Given the description of an element on the screen output the (x, y) to click on. 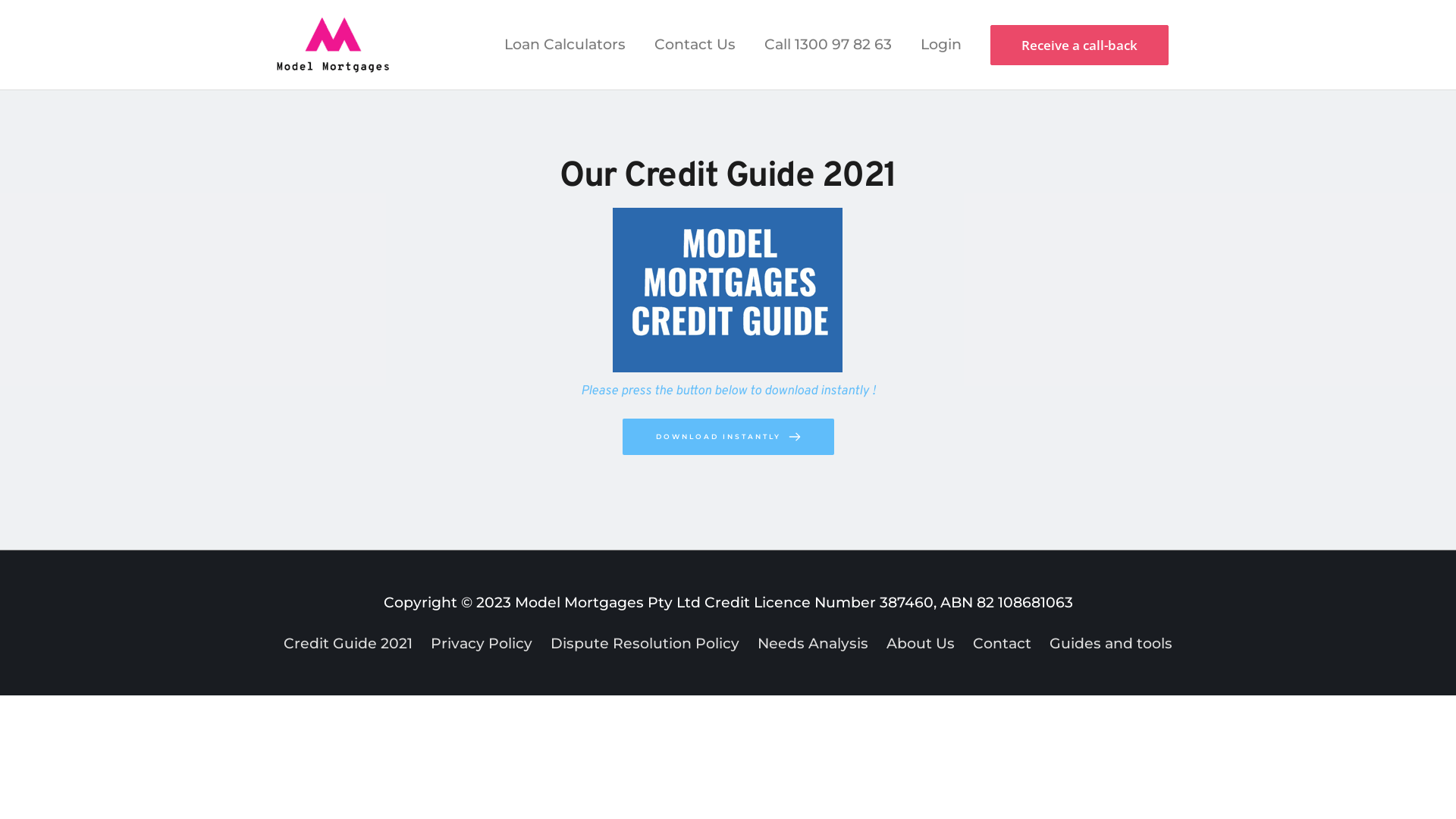
About Us Element type: text (920, 643)
Receive a call-back Element type: text (1079, 45)
Privacy Policy Element type: text (481, 643)
Needs Analysis Element type: text (812, 643)
Receive a call-back Element type: text (1079, 44)
Credit Guide 2021 Element type: text (351, 643)
Call 1300 97 82 63 Element type: text (827, 44)
Login Element type: text (940, 44)
Contact Us Element type: text (694, 44)
Dispute Resolution Policy Element type: text (644, 643)
Loan Calculators Element type: text (564, 44)
Contact Element type: text (1002, 643)
Guides and tools Element type: text (1106, 643)
DOWNLOAD INSTANTLY Element type: text (727, 436)
